Given the description of an element on the screen output the (x, y) to click on. 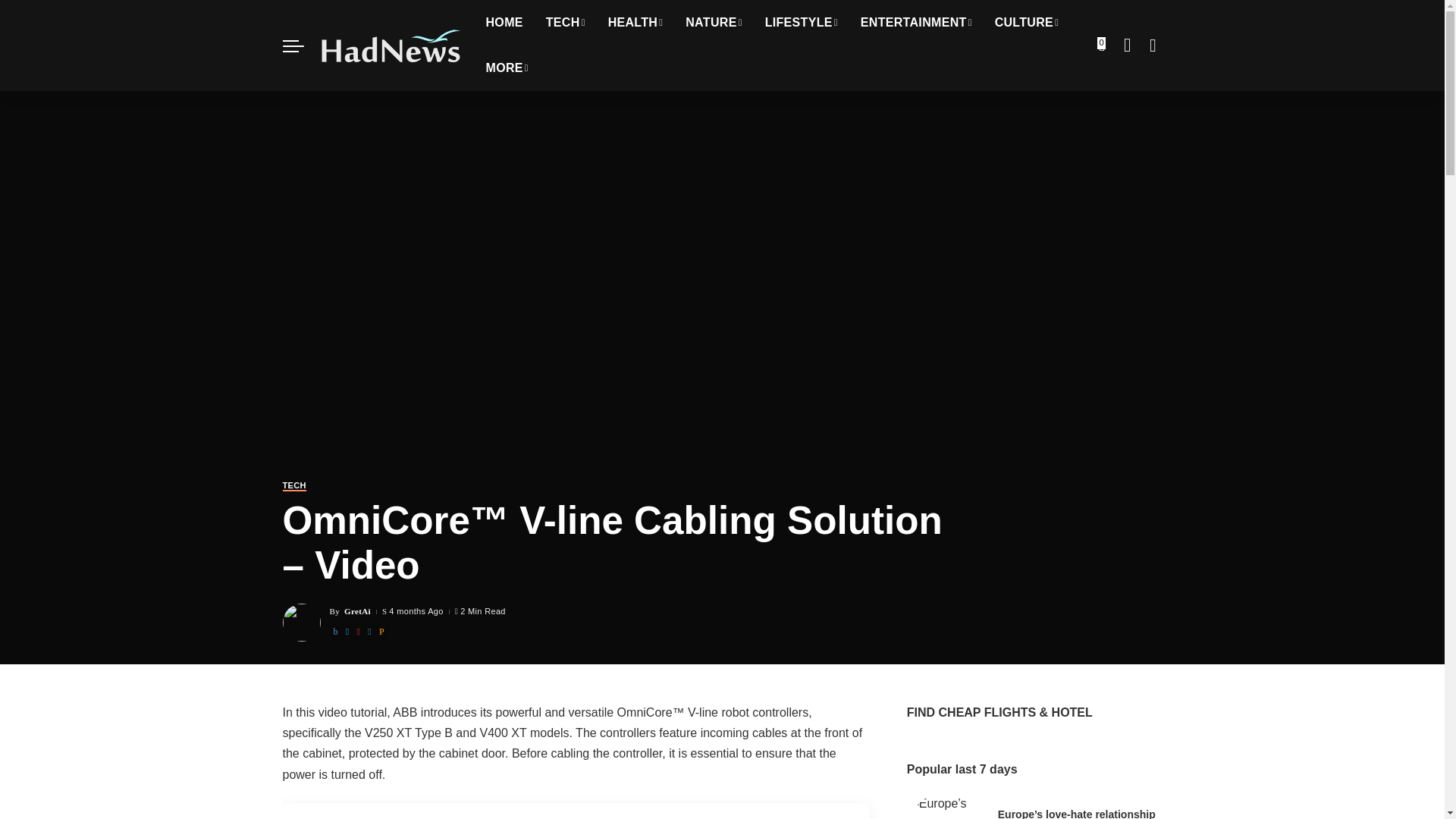
HadNews.com (390, 44)
